Given the description of an element on the screen output the (x, y) to click on. 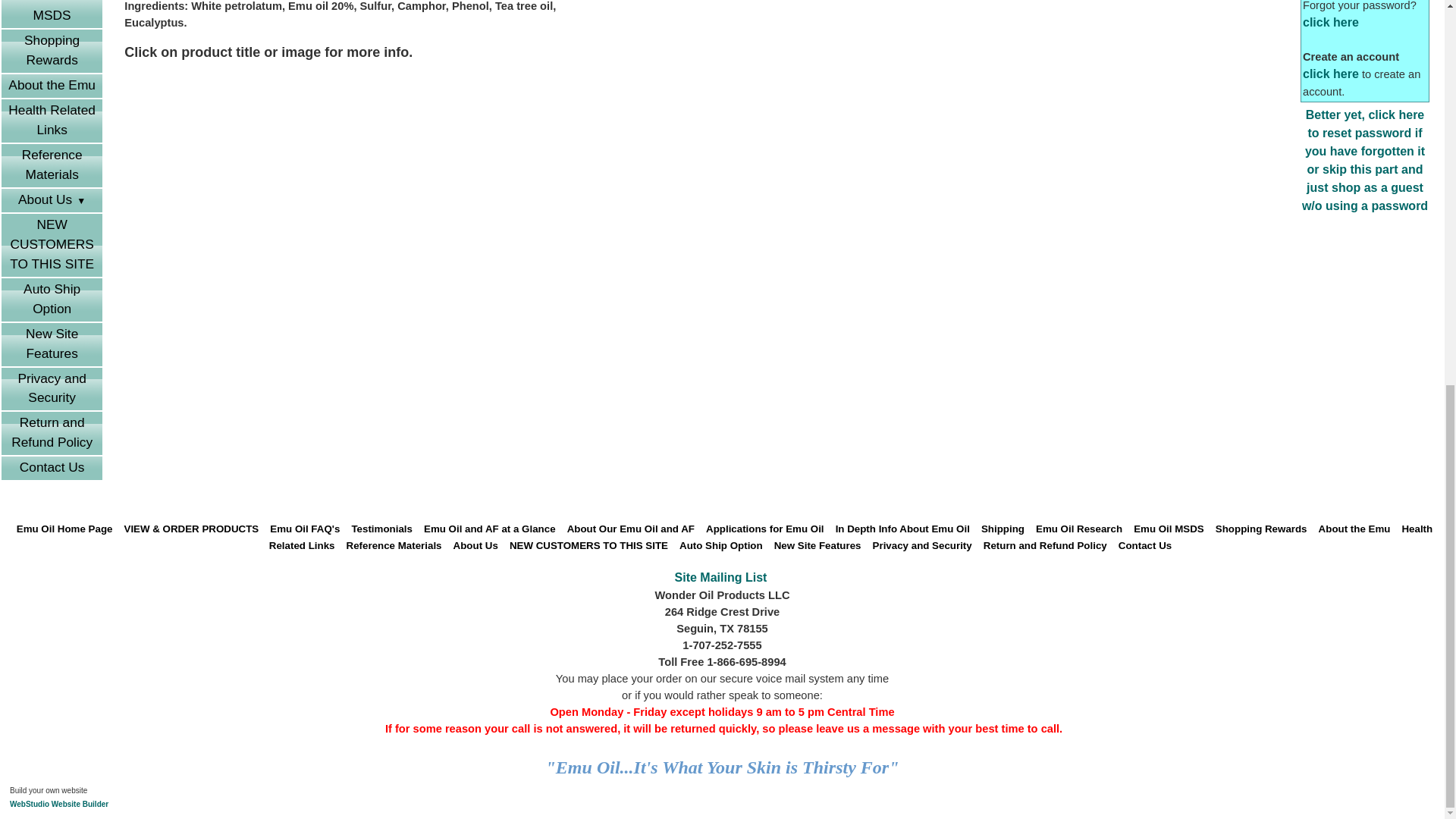
Health Related Links (51, 120)
New Site Features (51, 344)
About the Emu (51, 85)
Shopping Rewards (51, 50)
Emu Oil MSDS (51, 13)
Auto Ship Option (51, 299)
Return and Refund Policy (51, 433)
NEW CUSTOMERS TO THIS SITE (51, 244)
Privacy and Security (51, 389)
Reference Materials (51, 165)
About Us (51, 200)
Contact Us (51, 467)
